Given the description of an element on the screen output the (x, y) to click on. 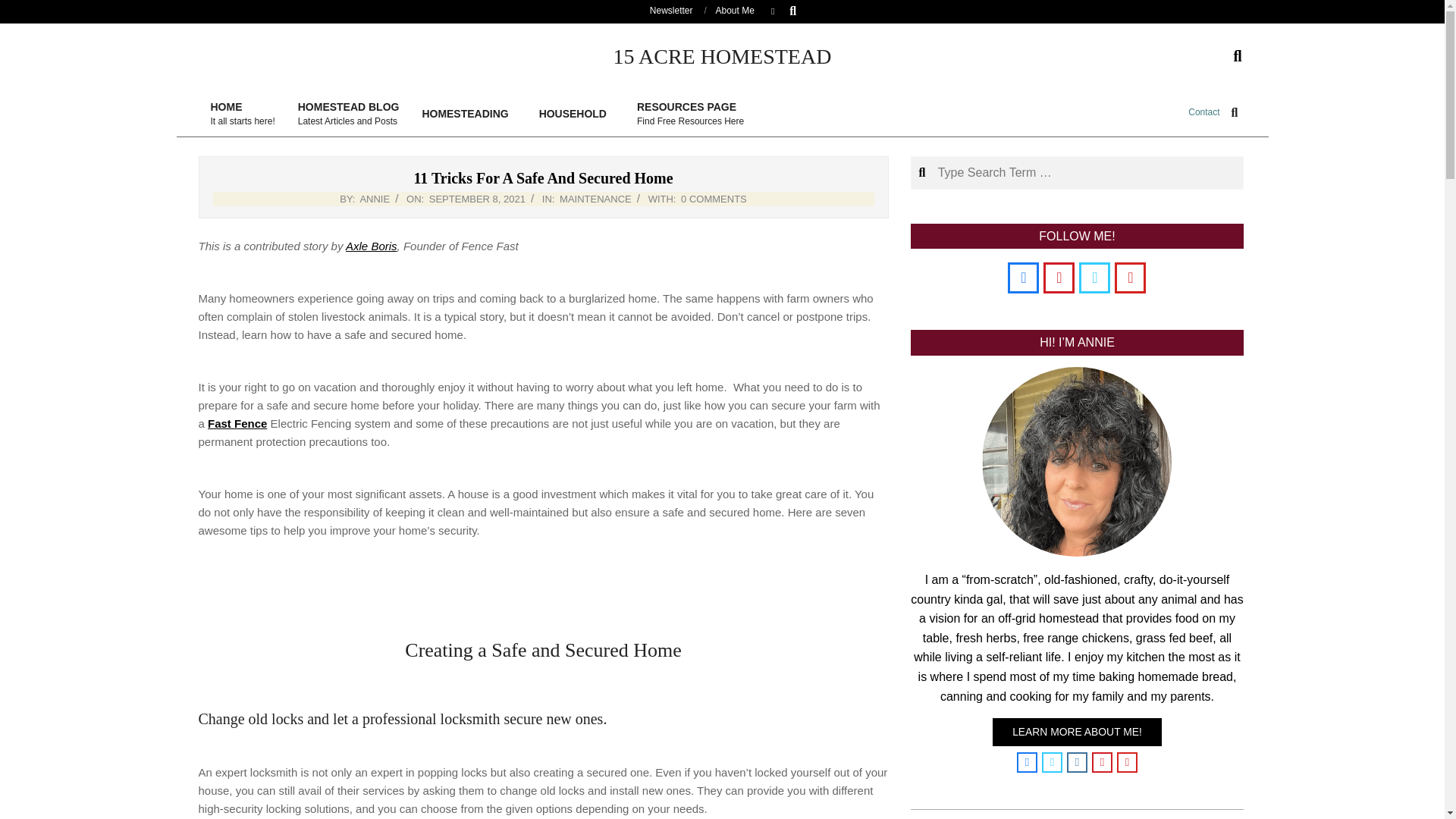
About Me (735, 9)
Fast Fence (348, 113)
Wednesday, September 8, 2021, 1:55 pm (241, 113)
Search (237, 422)
HOUSEHOLD (477, 198)
0 COMMENTS (24, 9)
